Given the description of an element on the screen output the (x, y) to click on. 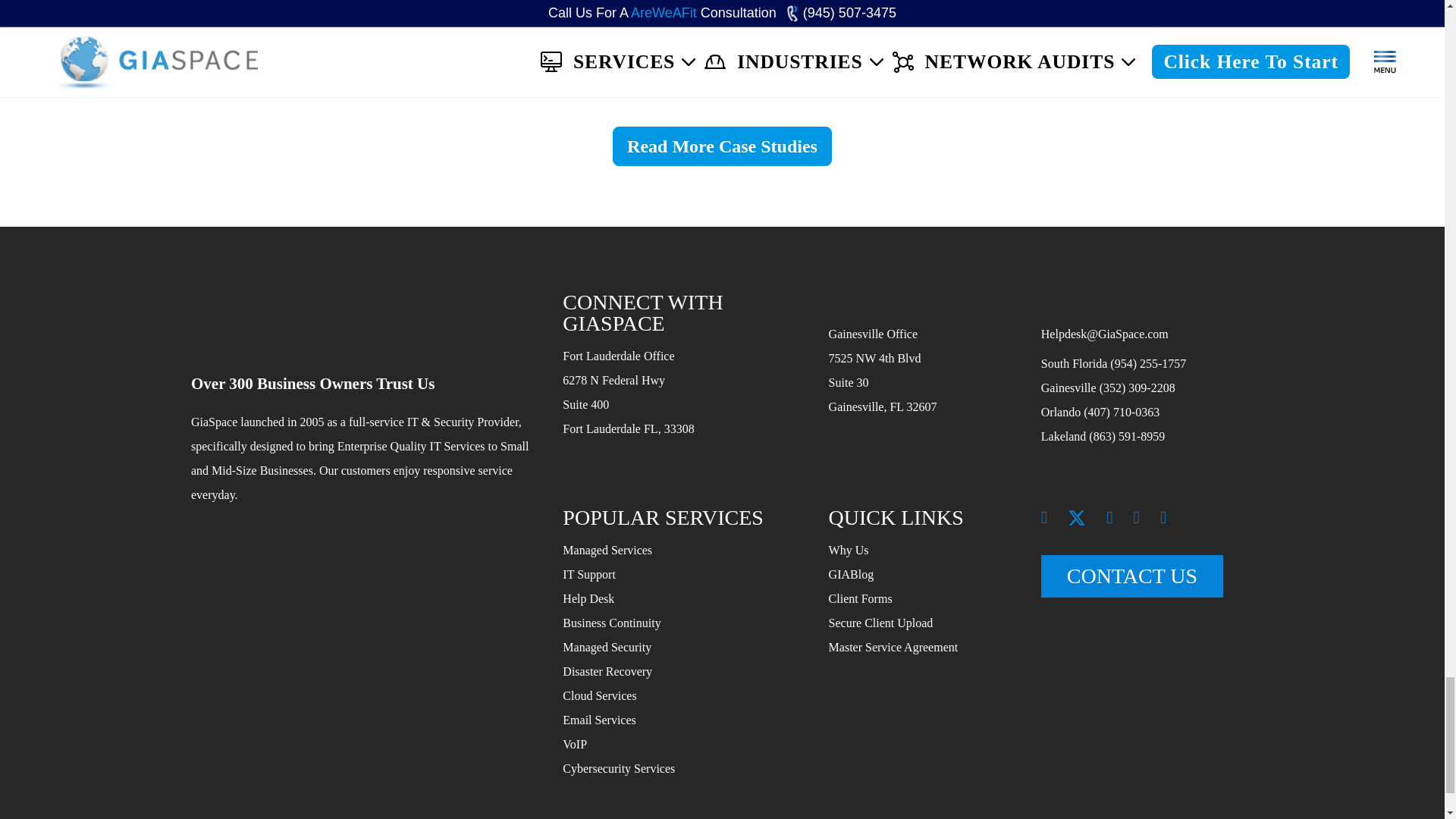
ECI Pharmaceuticals (603, 73)
Friedman CPA Group (364, 73)
Force Precision (842, 73)
Guy Strum (1079, 73)
